Given the description of an element on the screen output the (x, y) to click on. 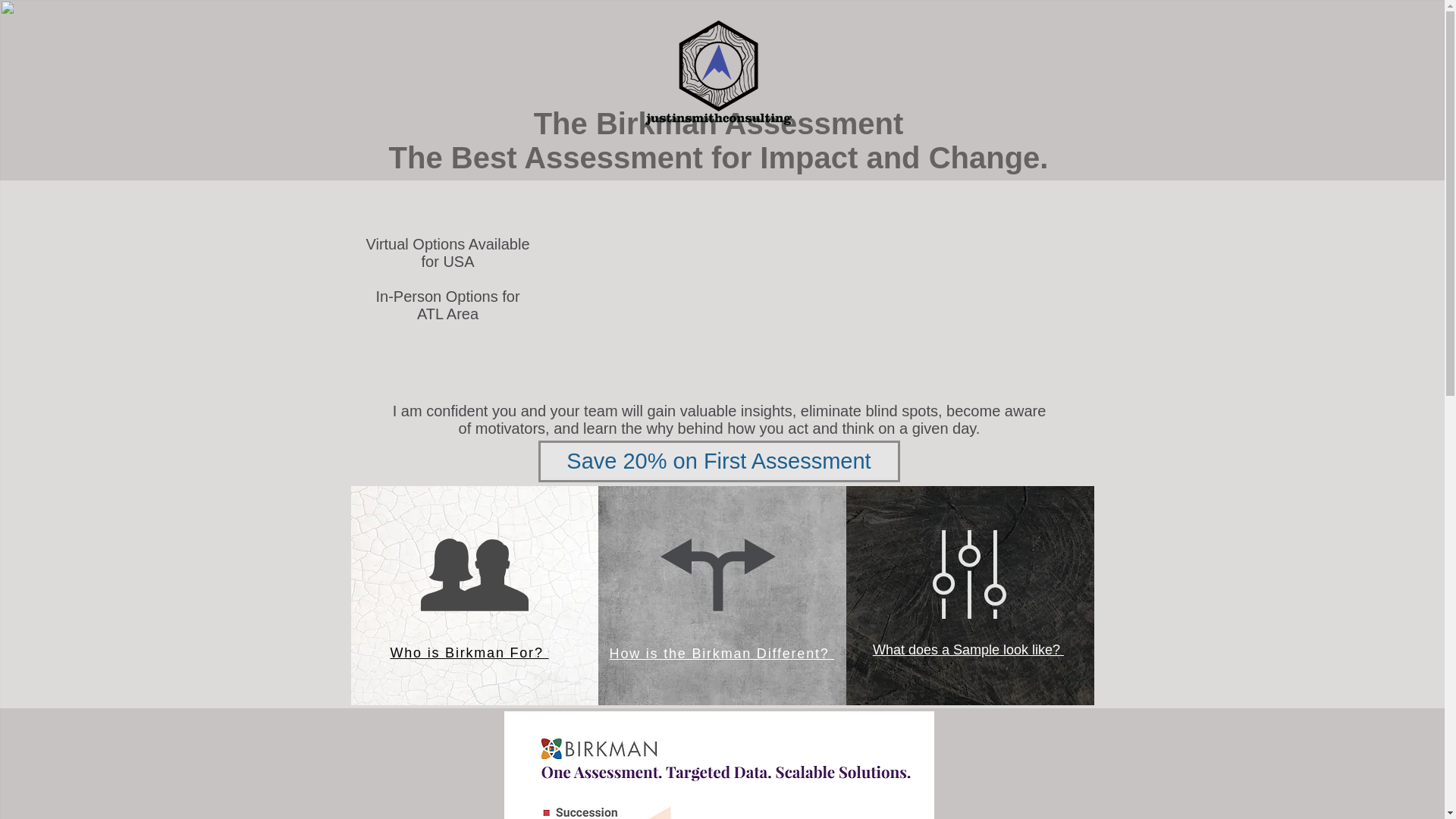
What does a Sample look like?  (968, 649)
Who is Birkman For?  (469, 652)
How is the Birkman Different?  (722, 653)
